Given the description of an element on the screen output the (x, y) to click on. 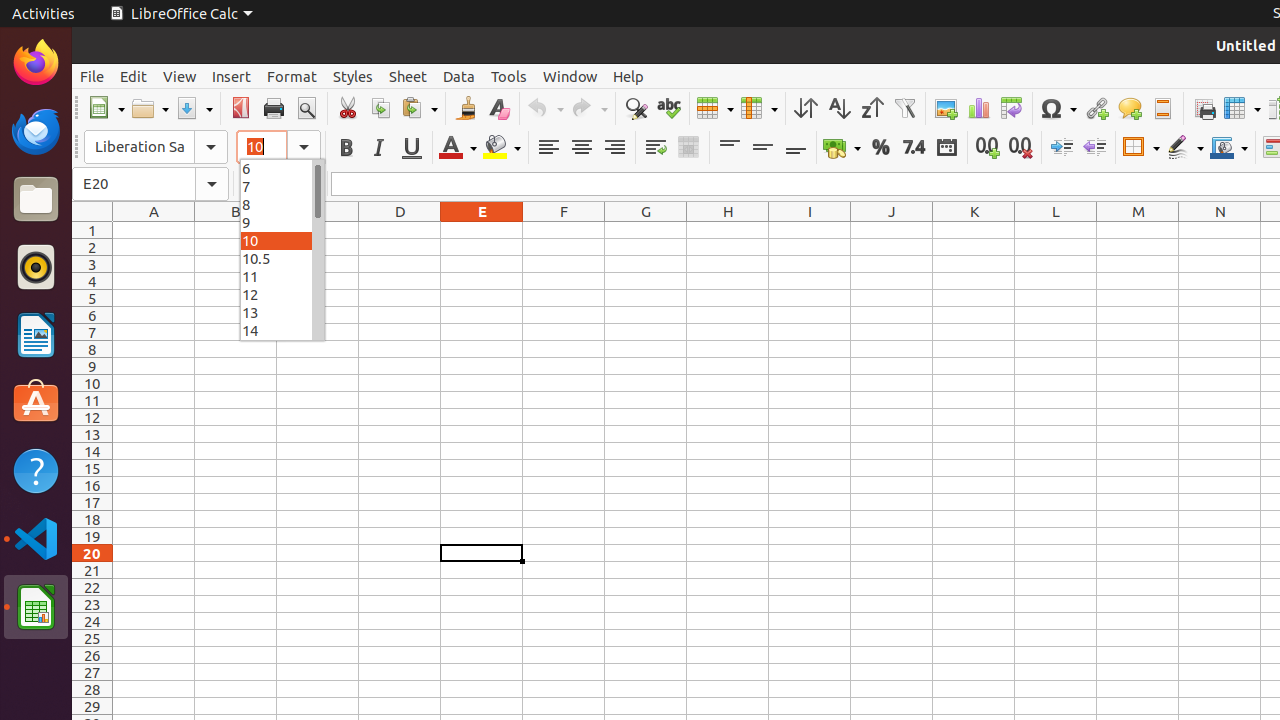
Thunderbird Mail Element type: push-button (36, 131)
Format Element type: menu (292, 76)
Freeze Rows and Columns Element type: push-button (1242, 108)
Comment Element type: push-button (1129, 108)
Center Vertically Element type: push-button (762, 147)
